Given the description of an element on the screen output the (x, y) to click on. 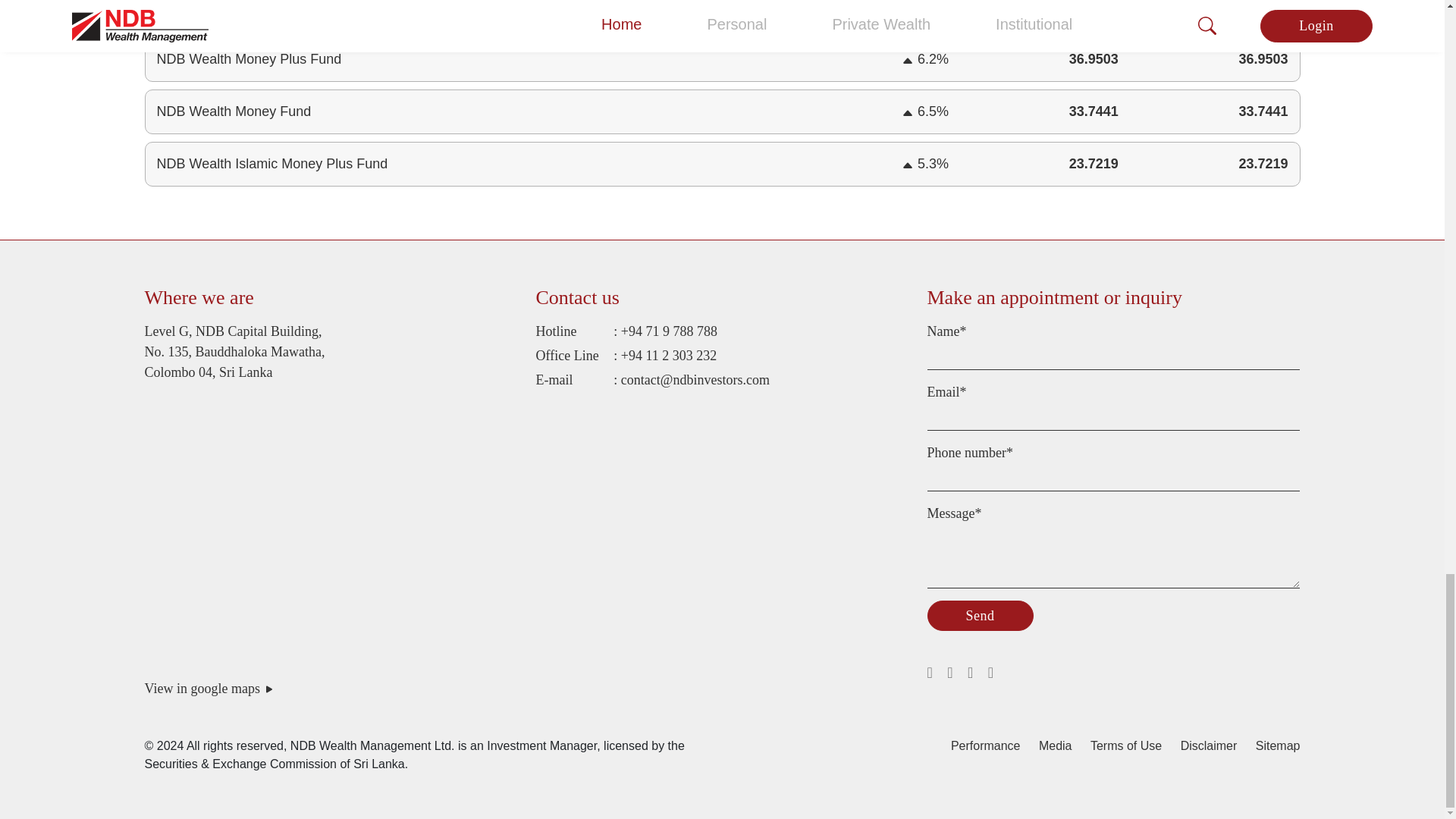
View in google maps (526, 688)
Send (979, 615)
